Given the description of an element on the screen output the (x, y) to click on. 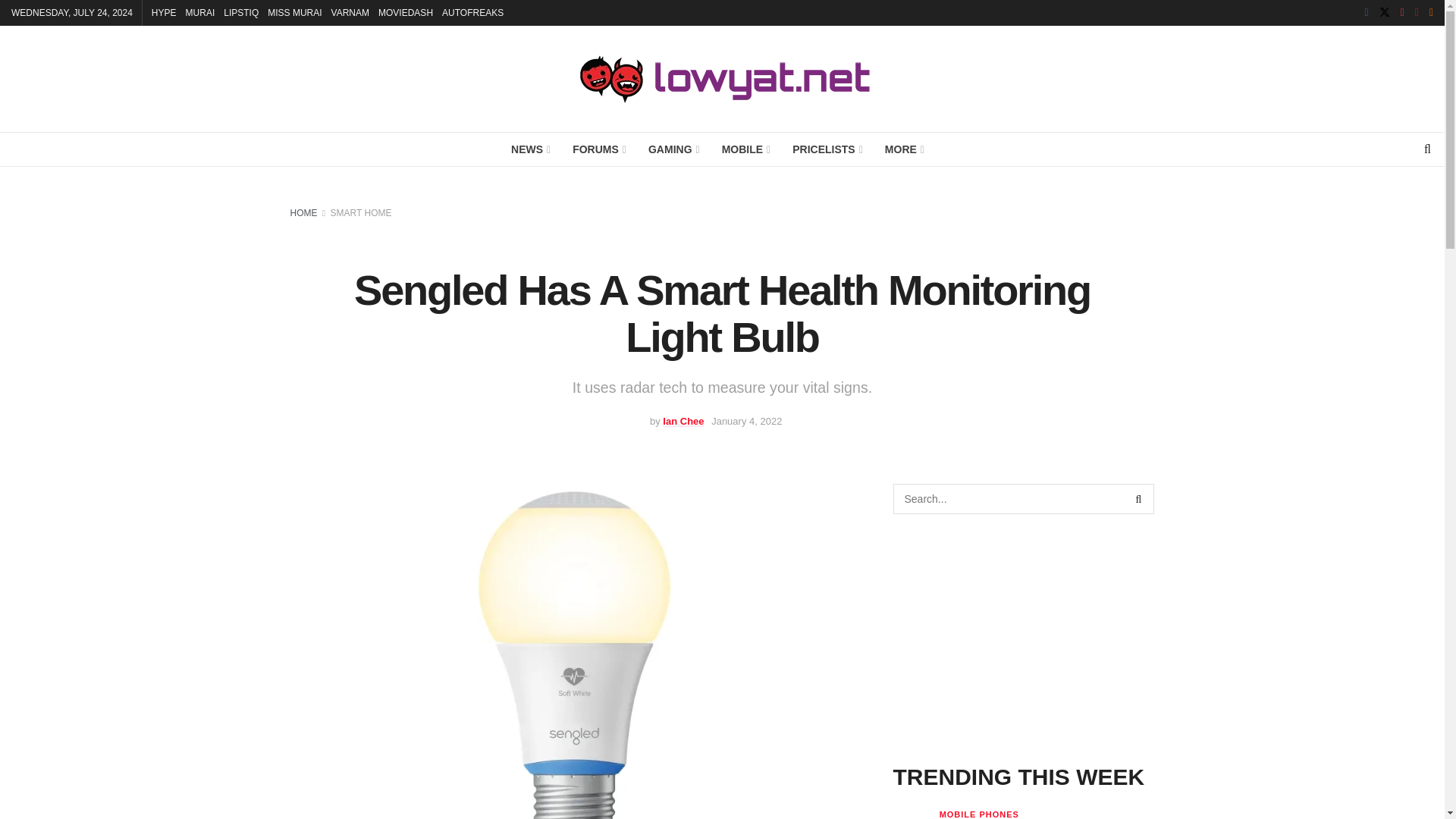
HYPE (163, 12)
MISS MURAI (294, 12)
NEWS (529, 149)
MOBILE (745, 149)
VARNAM (350, 12)
MURAI (200, 12)
GAMING (673, 149)
MOVIEDASH (405, 12)
FORUMS (598, 149)
AUTOFREAKS (472, 12)
LIPSTIQ (241, 12)
